Given the description of an element on the screen output the (x, y) to click on. 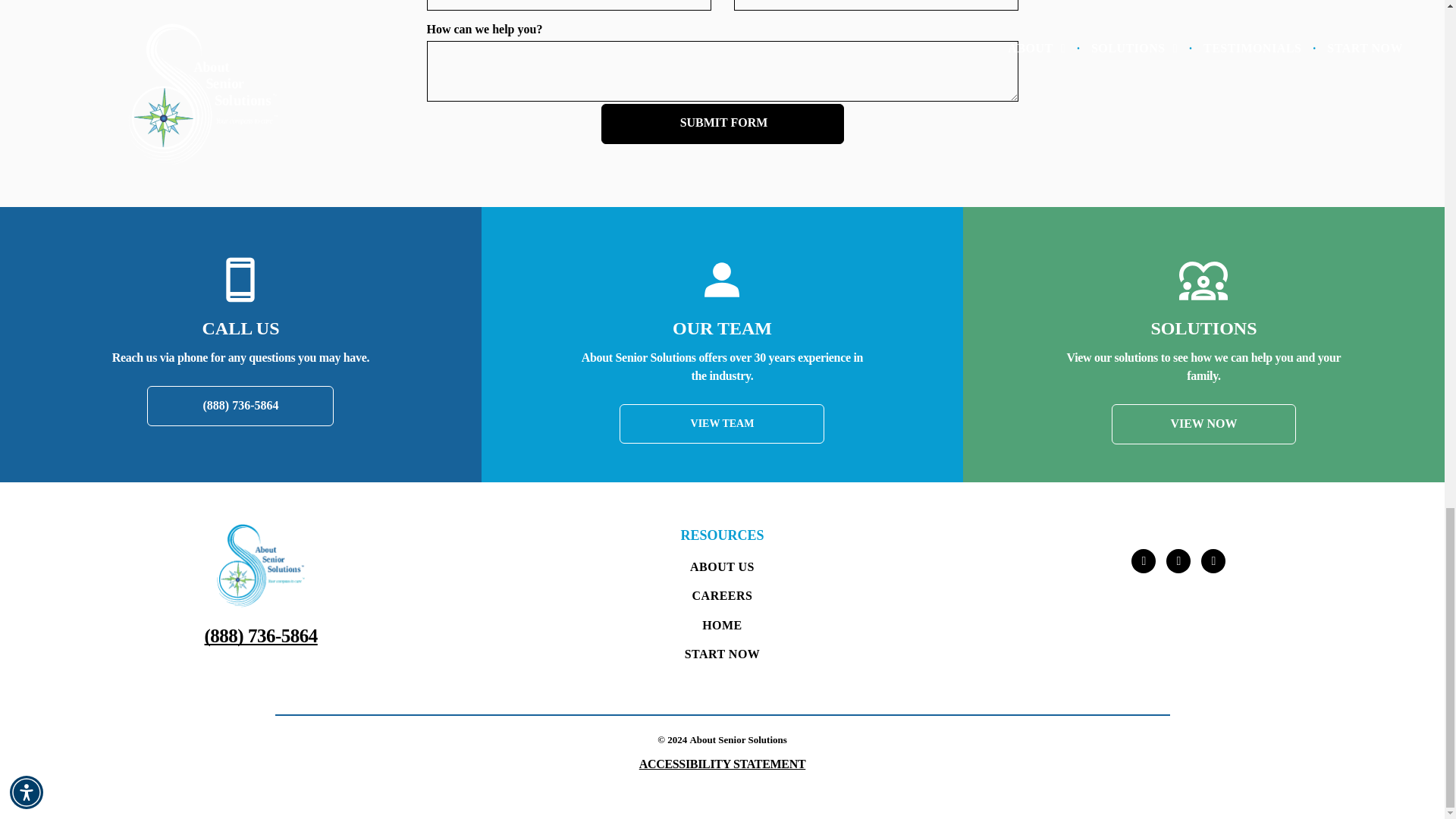
VIEW NOW (1204, 424)
SUBMIT FORM (724, 122)
VIEW TEAM (722, 423)
ABOUT US (721, 566)
SUBMIT FORM (724, 122)
